Given the description of an element on the screen output the (x, y) to click on. 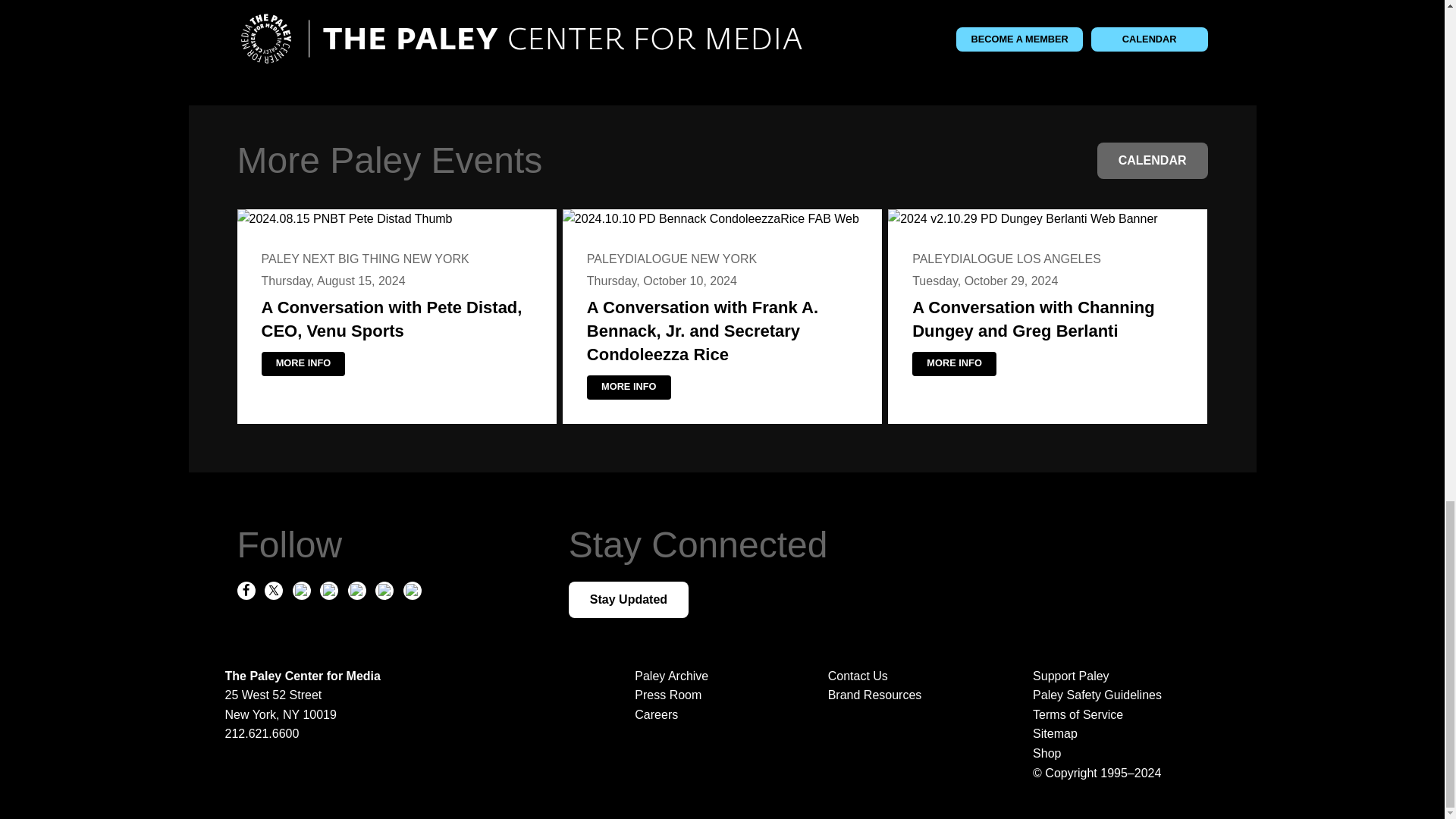
Press Room (667, 694)
Stay Updated (628, 599)
Sitemap (1119, 733)
Careers (656, 714)
Contact Us (858, 675)
Paley Archive (670, 675)
Brand Resources (874, 694)
MORE INFO (302, 363)
Support Paley (1119, 676)
Terms of Service (1119, 714)
